Given the description of an element on the screen output the (x, y) to click on. 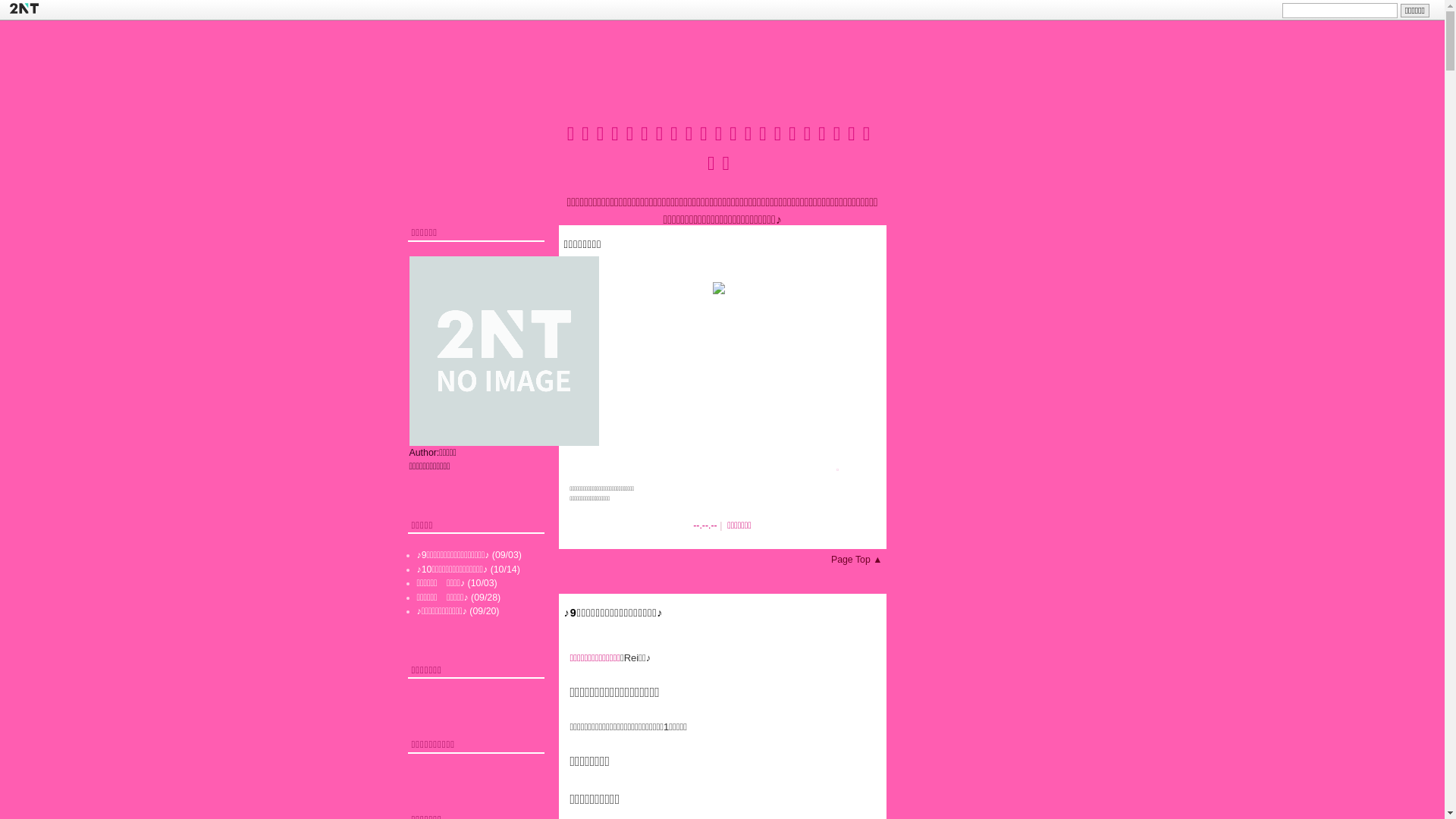
--.--.-- Element type: text (705, 525)
